Given the description of an element on the screen output the (x, y) to click on. 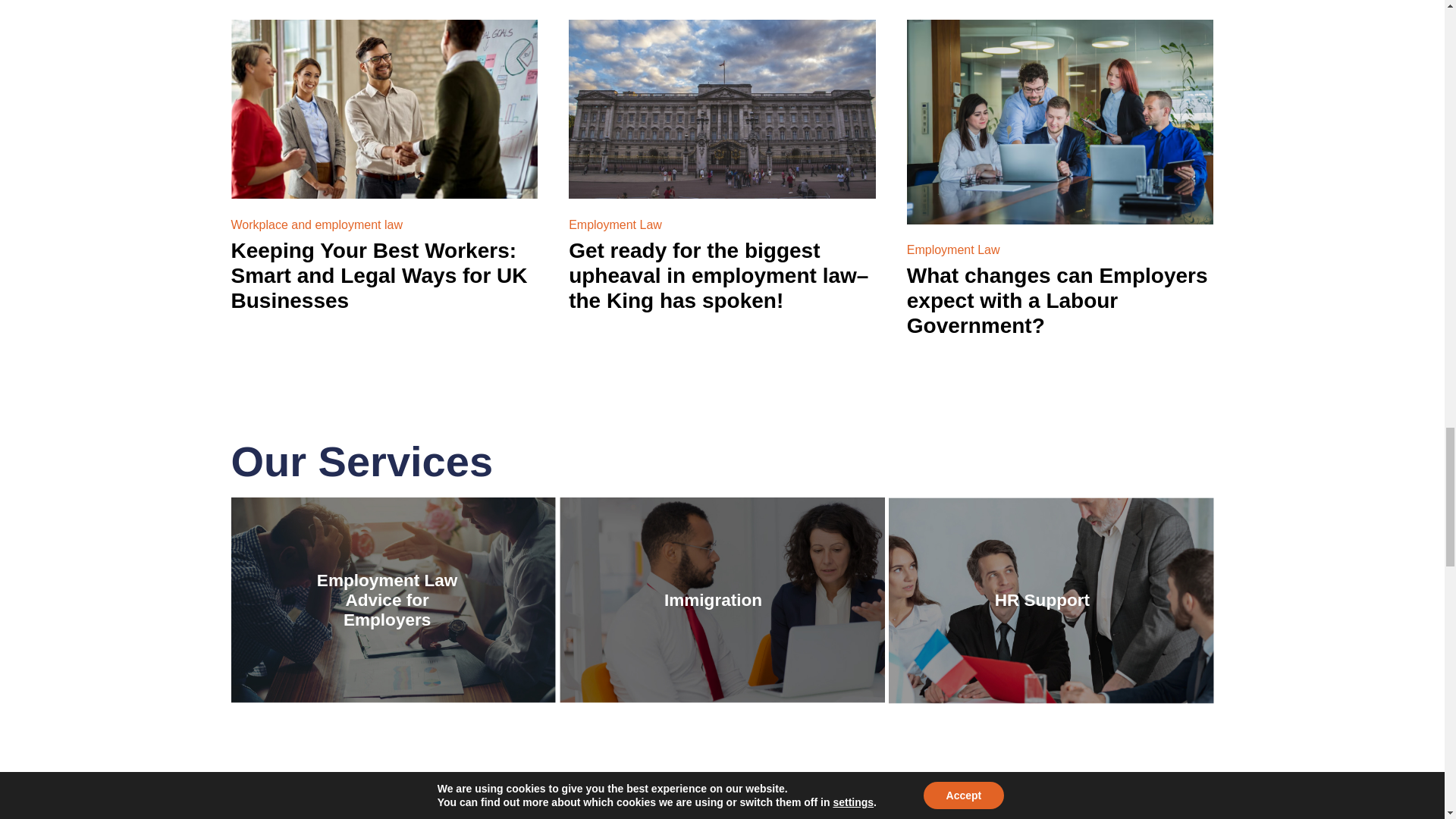
What changes can Employers expect with a Labour Government? (1060, 121)
